Given the description of an element on the screen output the (x, y) to click on. 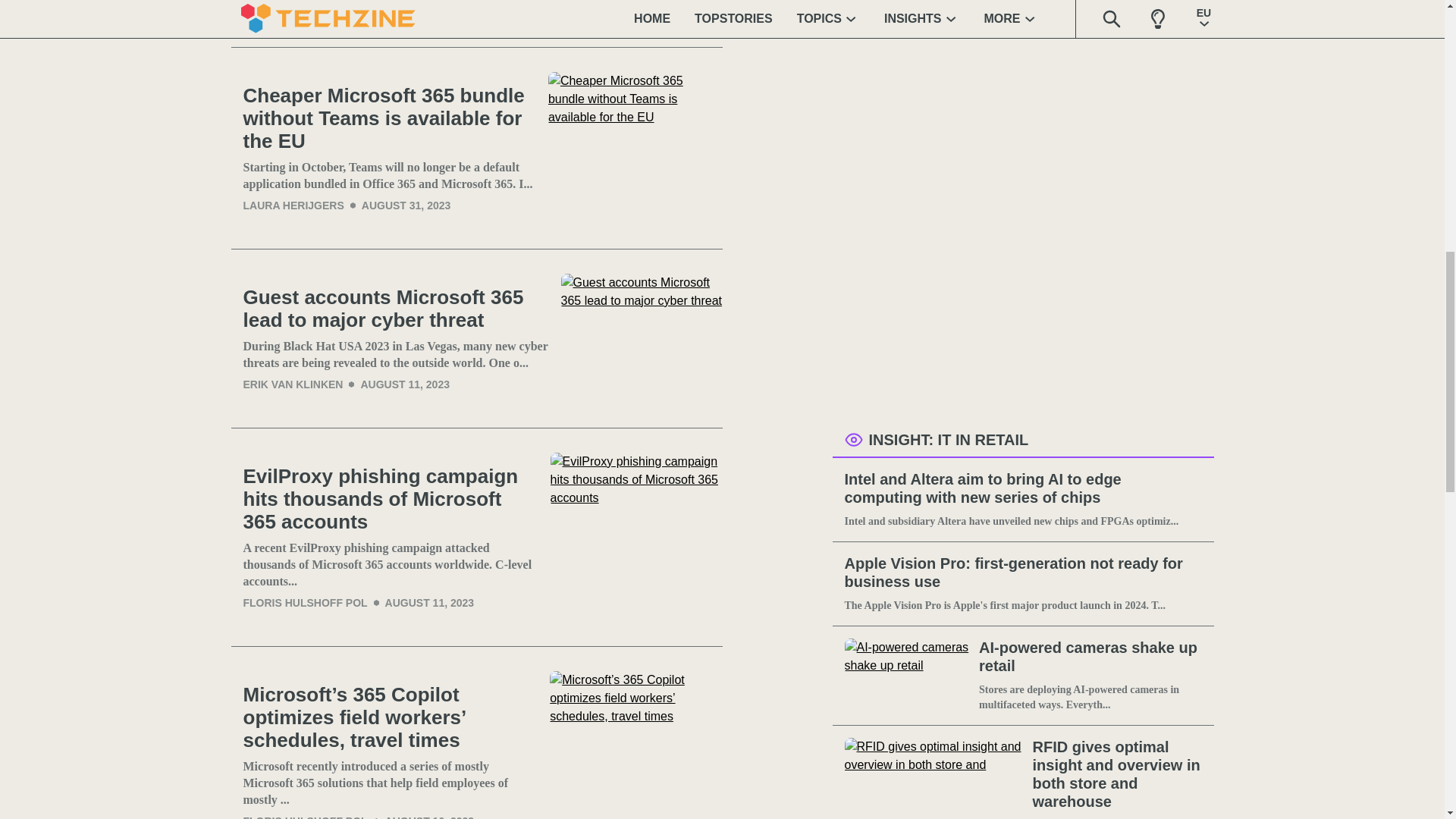
Guest accounts Microsoft 365 lead to major cyber threat (395, 308)
Guest accounts Microsoft 365 lead to major cyber threat (641, 338)
Microsoft presents Windows 11 23H2 and arrival Copilot (642, 11)
